Given the description of an element on the screen output the (x, y) to click on. 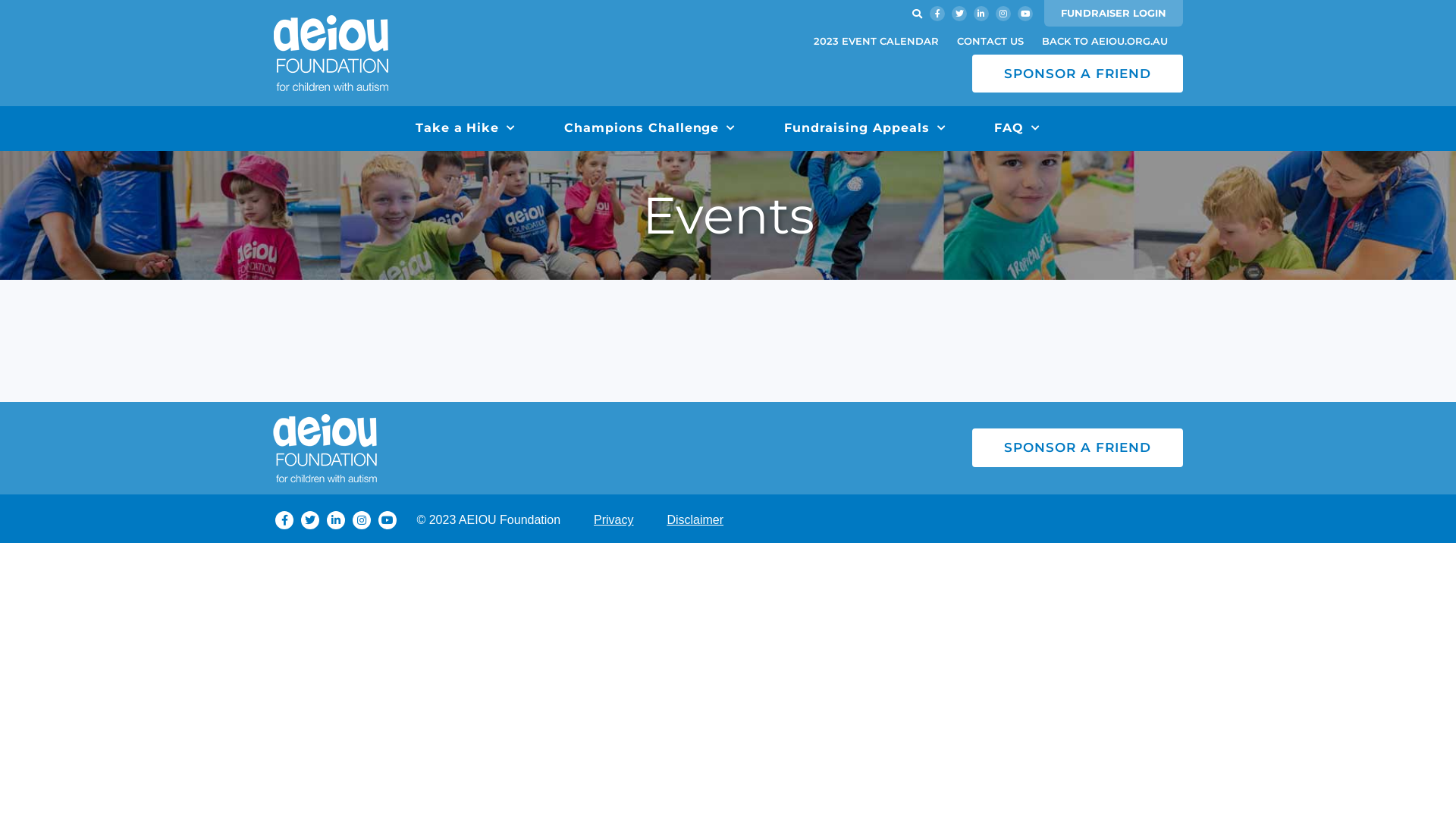
Champions Challenge Element type: text (649, 128)
FAQ Element type: text (1017, 128)
Fundraising Appeals Element type: text (864, 128)
BACK TO AEIOU.ORG.AU Element type: text (1104, 41)
FUNDRAISER LOGIN Element type: text (1113, 13)
Disclaimer Element type: text (694, 520)
2023 EVENT CALENDAR Element type: text (875, 41)
CONTACT US Element type: text (990, 41)
SPONSOR A FRIEND Element type: text (1077, 73)
Privacy Element type: text (613, 520)
SPONSOR A FRIEND Element type: text (1077, 447)
Take a Hike Element type: text (465, 128)
